Given the description of an element on the screen output the (x, y) to click on. 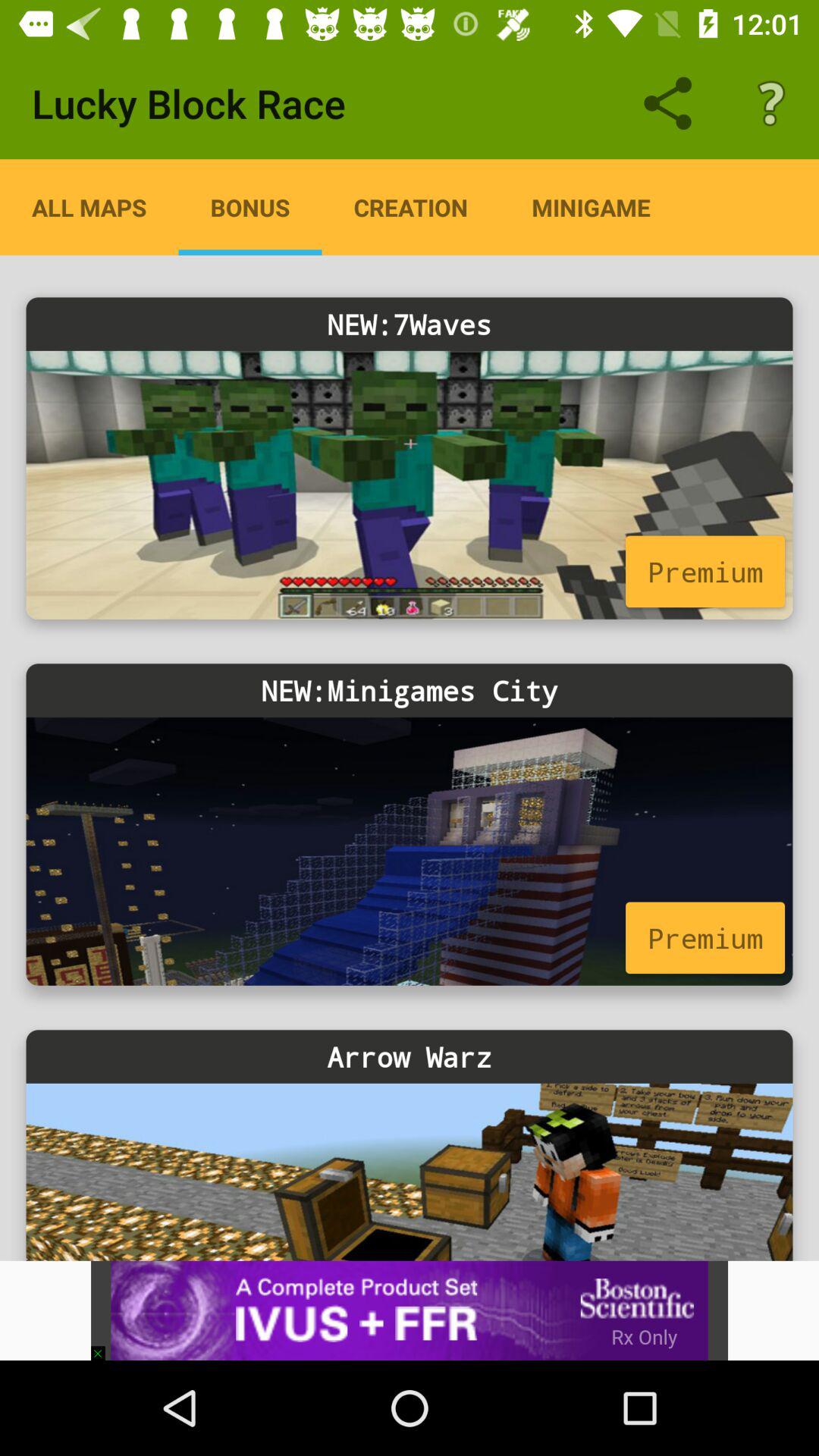
turn on the icon above the new:7waves (590, 207)
